Given the description of an element on the screen output the (x, y) to click on. 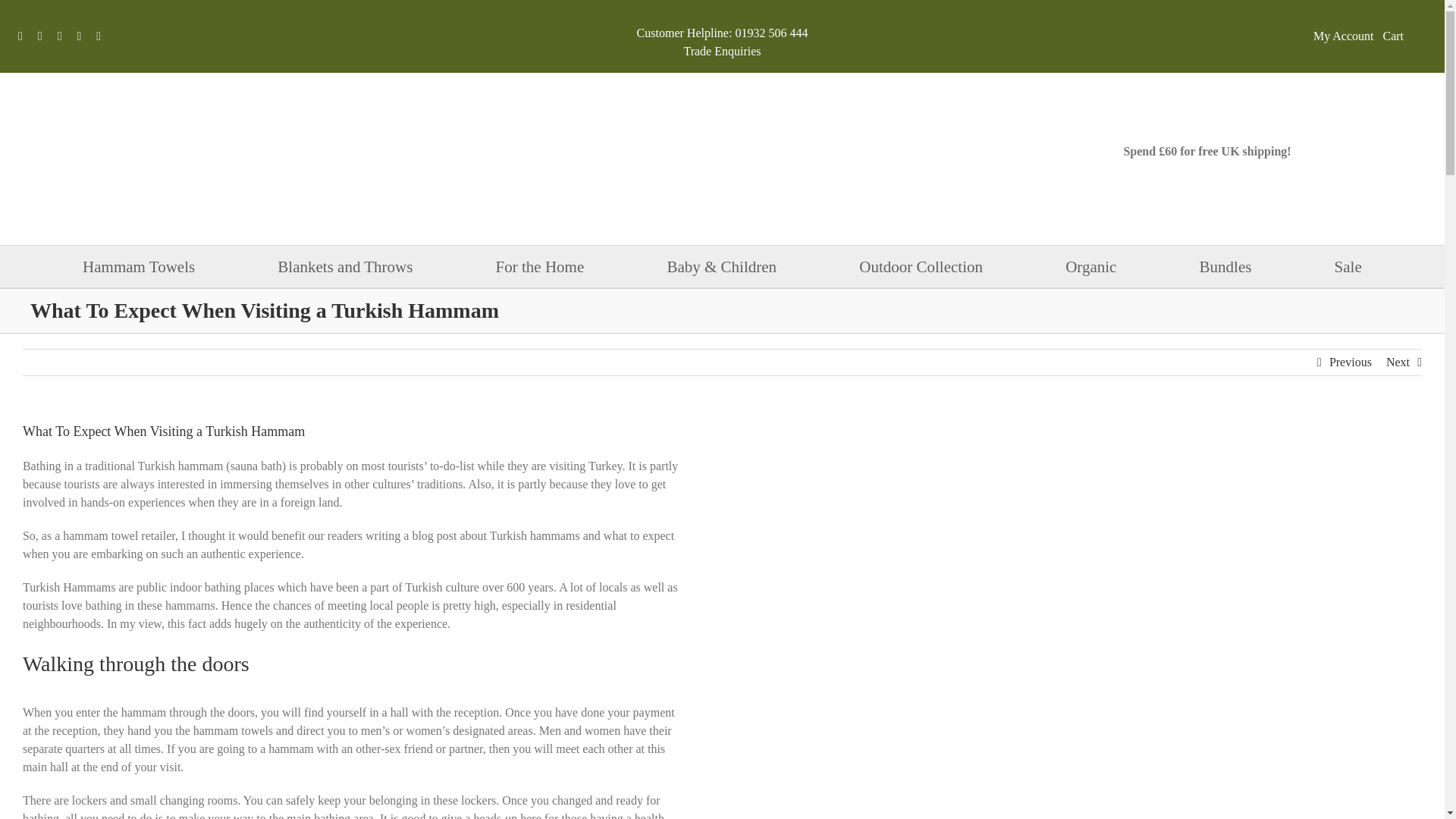
My Account (1343, 36)
Trade Enquiries (721, 51)
Cart (1404, 35)
For the Home (540, 266)
Hammam Towels (138, 266)
Blankets and Throws (345, 266)
Outdoor Collection (920, 266)
